Given the description of an element on the screen output the (x, y) to click on. 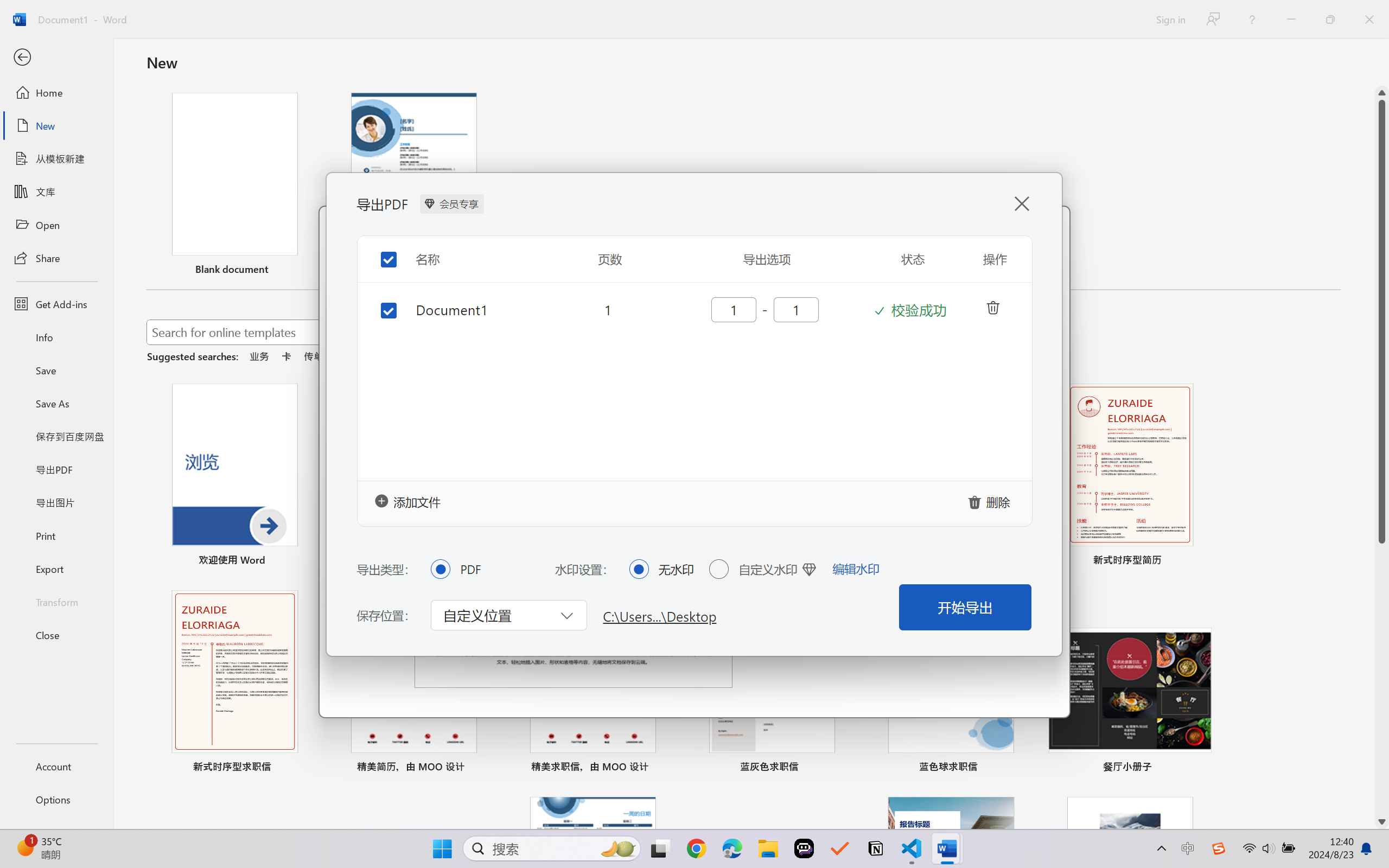
AutomationID: input44 (795, 308)
Blank document (234, 185)
Toggle selection for all items (380, 255)
